Given the description of an element on the screen output the (x, y) to click on. 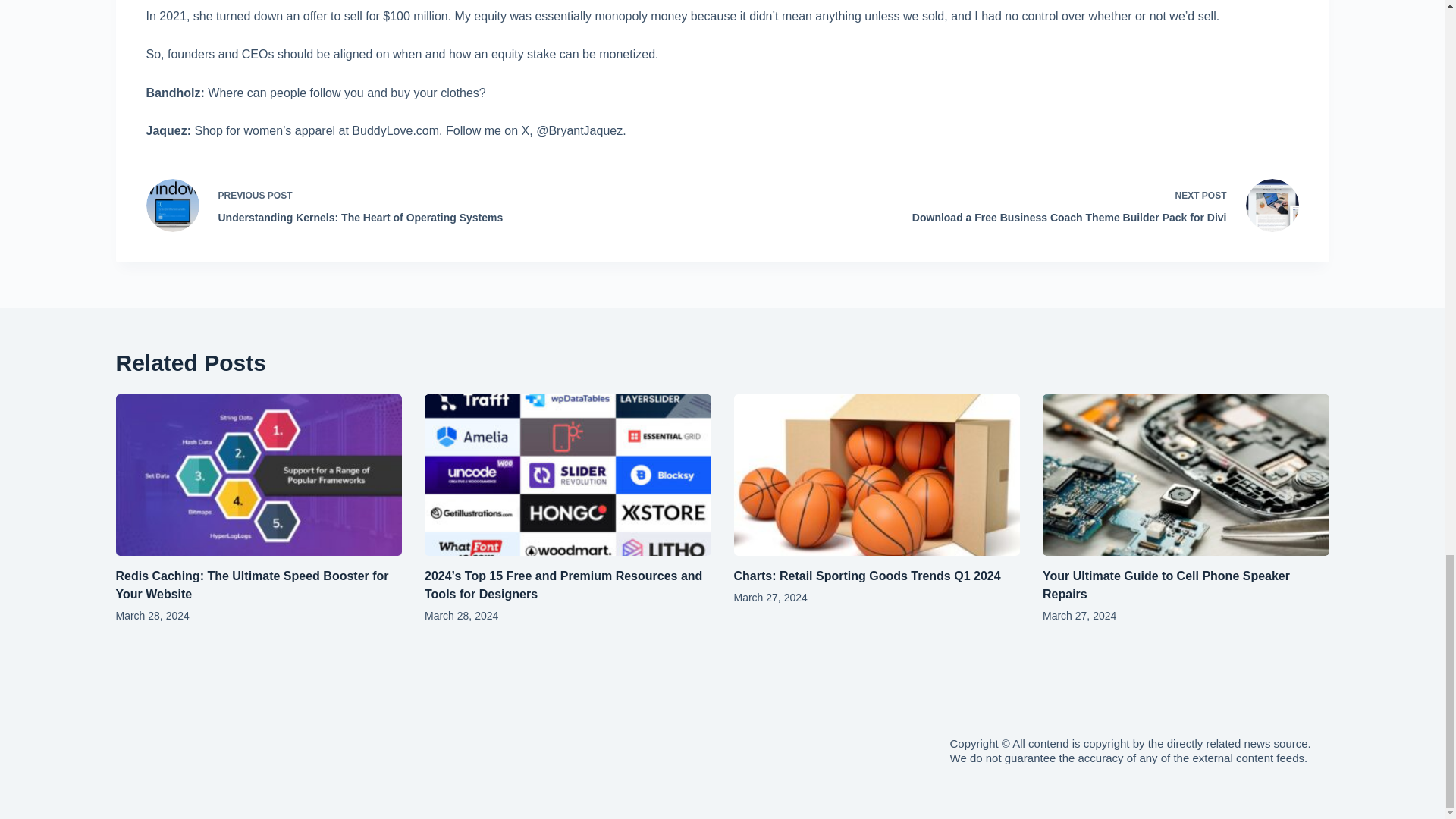
Your Ultimate Guide to Cell Phone Speaker Repairs (1166, 584)
Charts: Retail Sporting Goods Trends Q1 2024 (867, 575)
Redis Caching: The Ultimate Speed Booster for Your Website (251, 584)
